Given the description of an element on the screen output the (x, y) to click on. 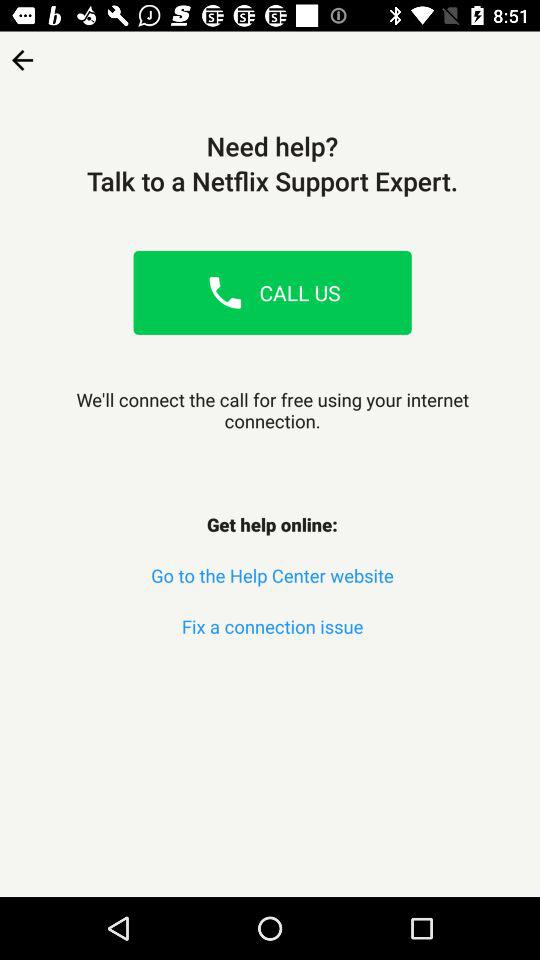
place call (225, 292)
